Given the description of an element on the screen output the (x, y) to click on. 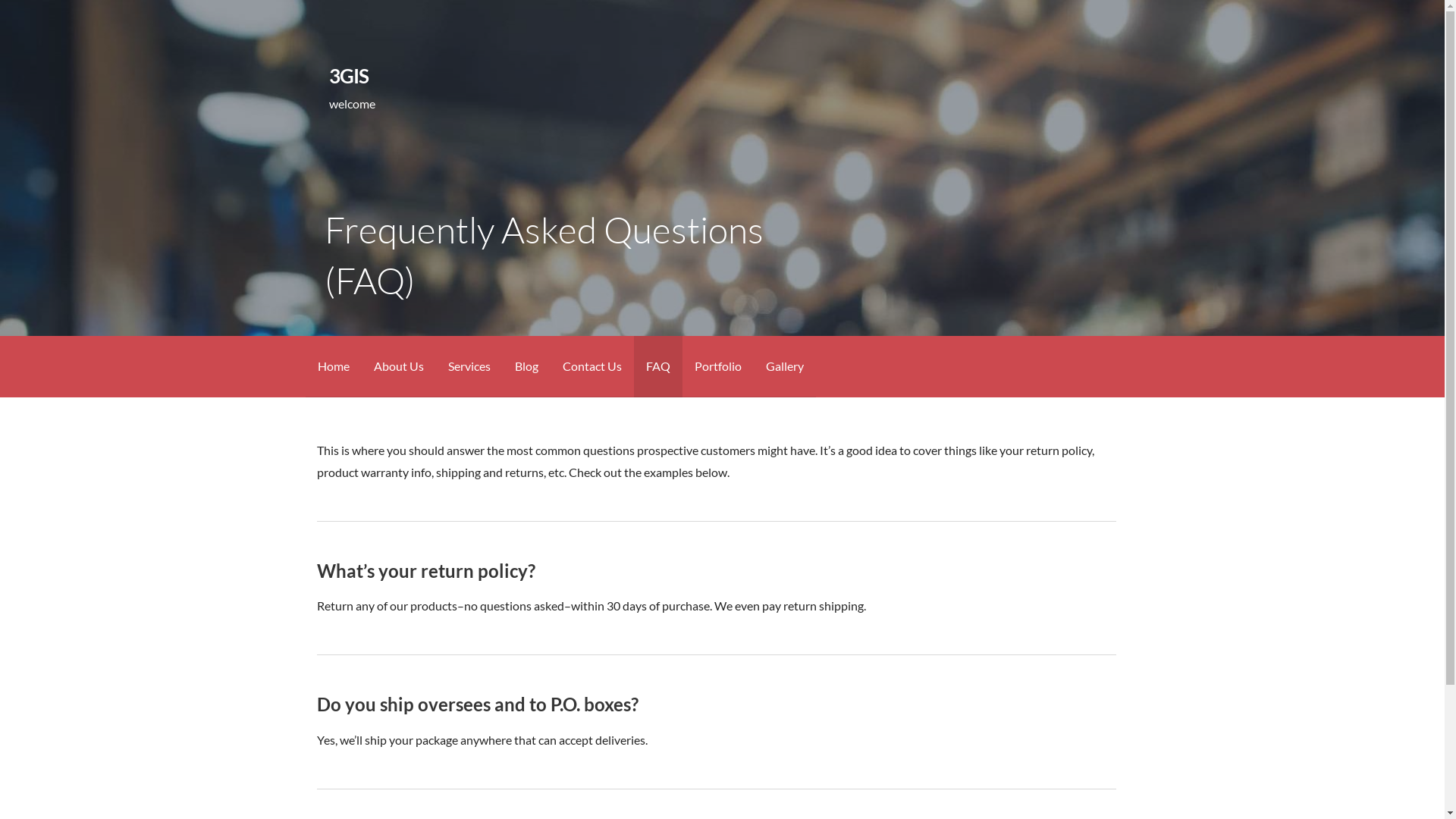
Services Element type: text (468, 366)
Blog Element type: text (525, 366)
Home Element type: text (332, 366)
Contact Us Element type: text (591, 366)
Gallery Element type: text (784, 366)
Portfolio Element type: text (717, 366)
About Us Element type: text (397, 366)
FAQ Element type: text (657, 366)
3GIS Element type: text (349, 75)
